Given the description of an element on the screen output the (x, y) to click on. 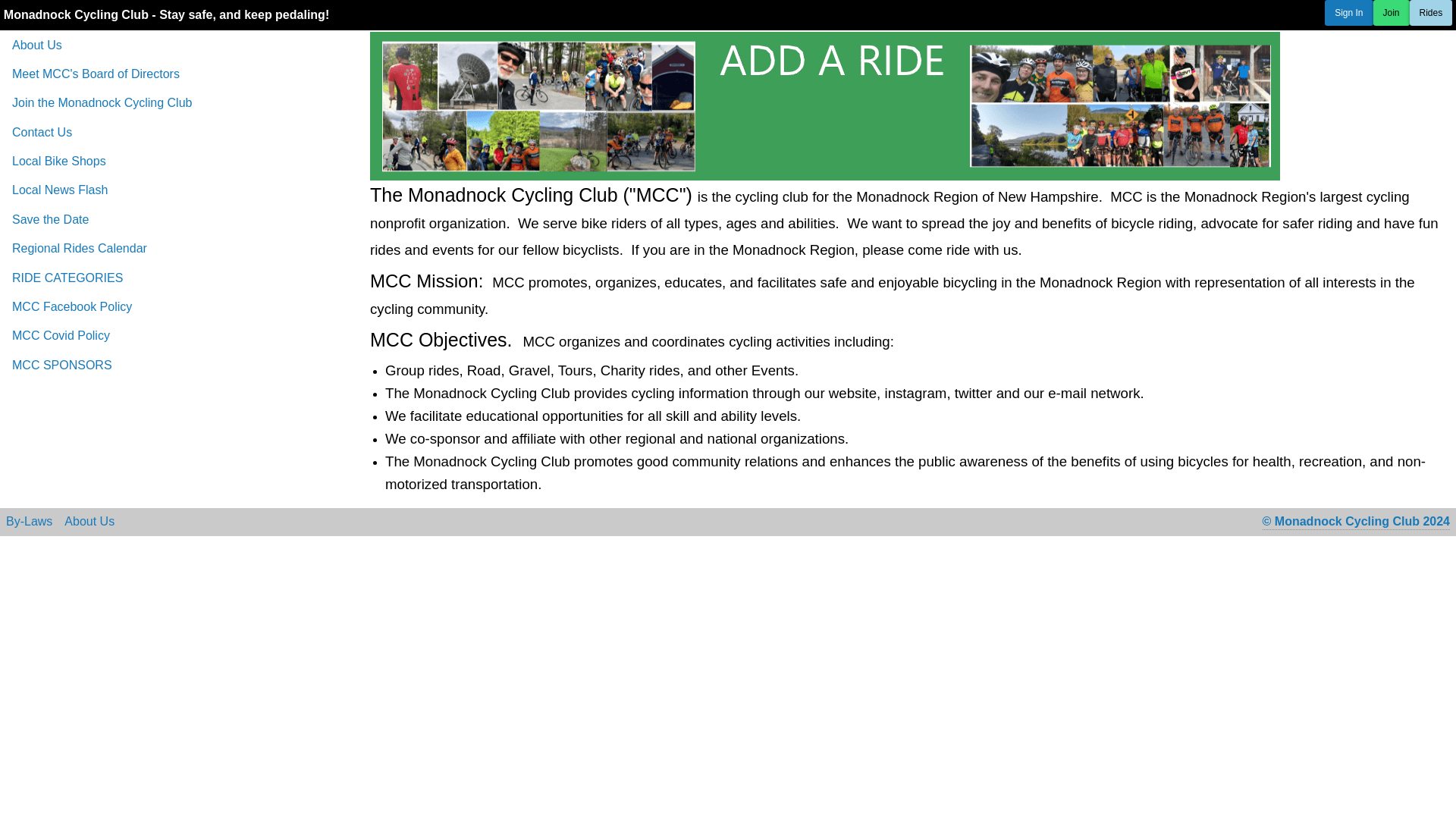
Regional Rides Calendar (182, 248)
About Us (182, 44)
Meet MCC's Board of Directors (182, 73)
Save the Date (182, 219)
Monadnock Cycling Club - Stay safe, and keep pedaling! (166, 14)
MCC Facebook Policy (182, 306)
MCC Covid Policy (182, 335)
Join (1391, 12)
Rides (1431, 12)
Local Bike Shops (182, 161)
